Given the description of an element on the screen output the (x, y) to click on. 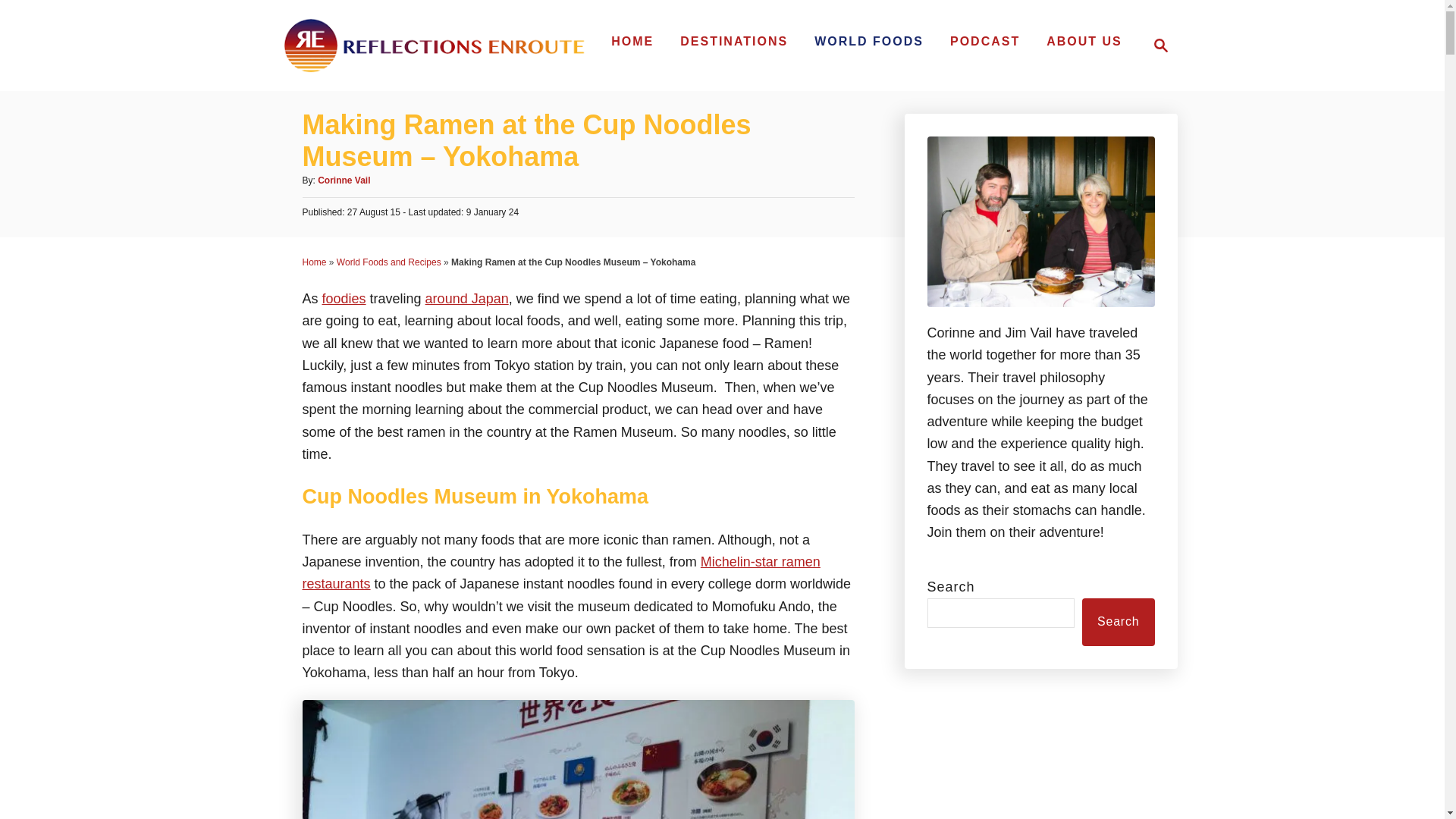
Magnifying Glass (1160, 45)
HOME (1155, 45)
ABOUT US (632, 41)
Michelin-star ramen restaurants (1084, 41)
Home (560, 572)
around Japan (313, 262)
PODCAST (466, 298)
WORLD FOODS (984, 41)
Reflections Enroute (868, 41)
foodies (433, 45)
World Foods and Recipes (343, 298)
DESTINATIONS (388, 262)
Corinne Vail (733, 41)
